Given the description of an element on the screen output the (x, y) to click on. 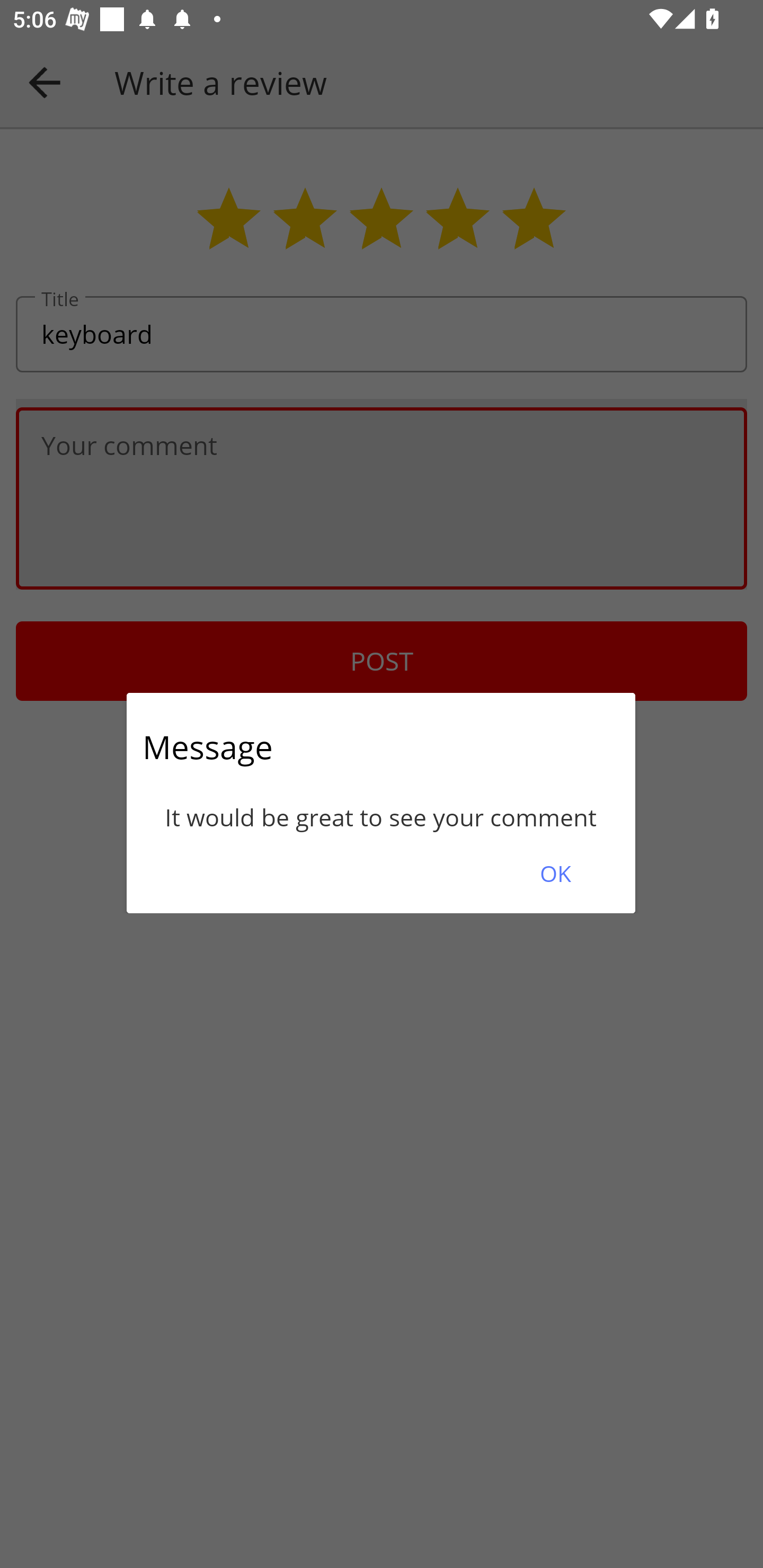
OK (555, 873)
